Given the description of an element on the screen output the (x, y) to click on. 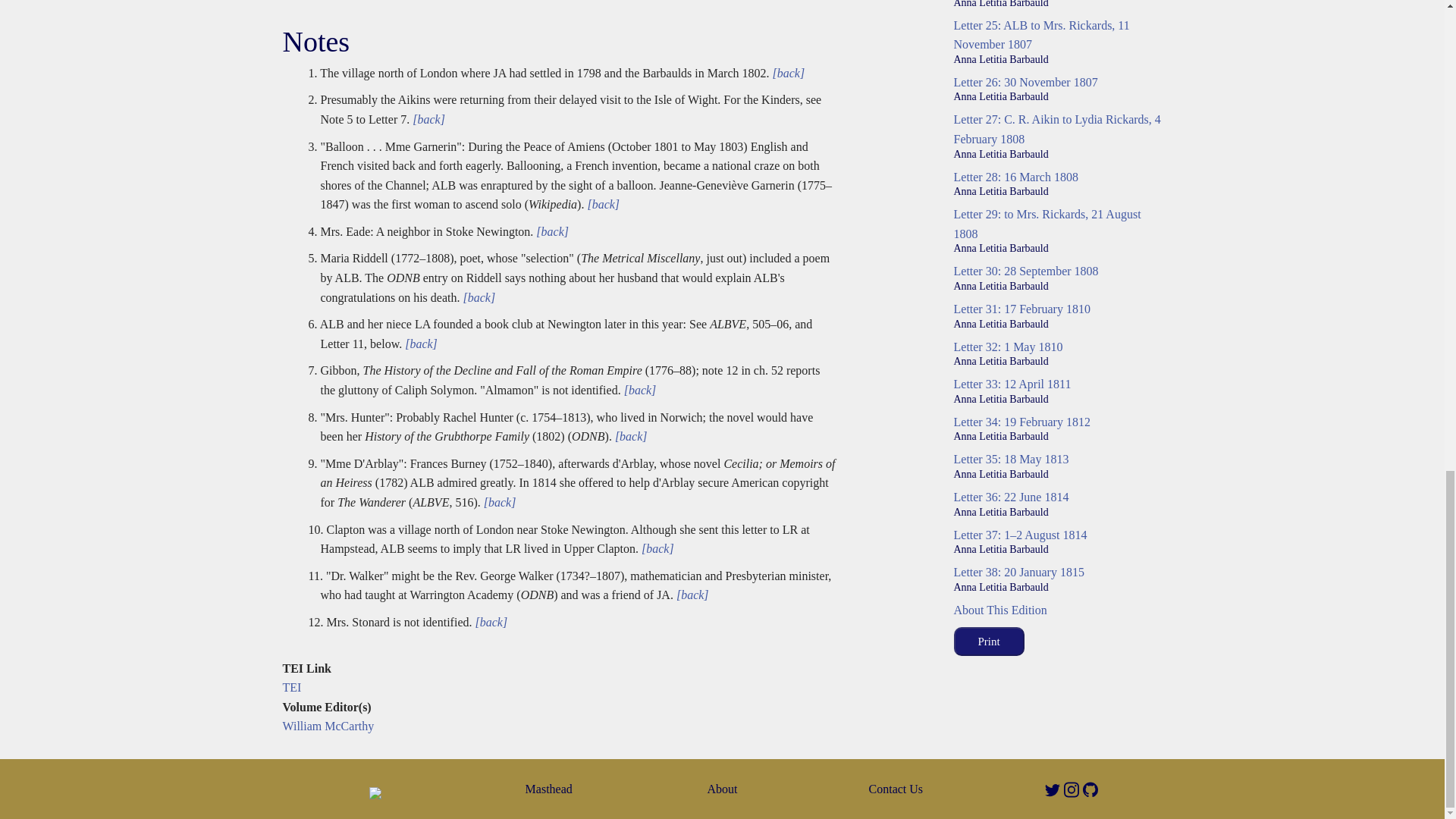
Go back to text (427, 119)
Go back to text (477, 297)
Go back to text (690, 594)
Go back to text (638, 390)
Go back to text (656, 548)
Go back to text (498, 502)
Go back to text (787, 72)
Go back to text (488, 621)
Go back to text (419, 343)
Go back to text (550, 231)
